Given the description of an element on the screen output the (x, y) to click on. 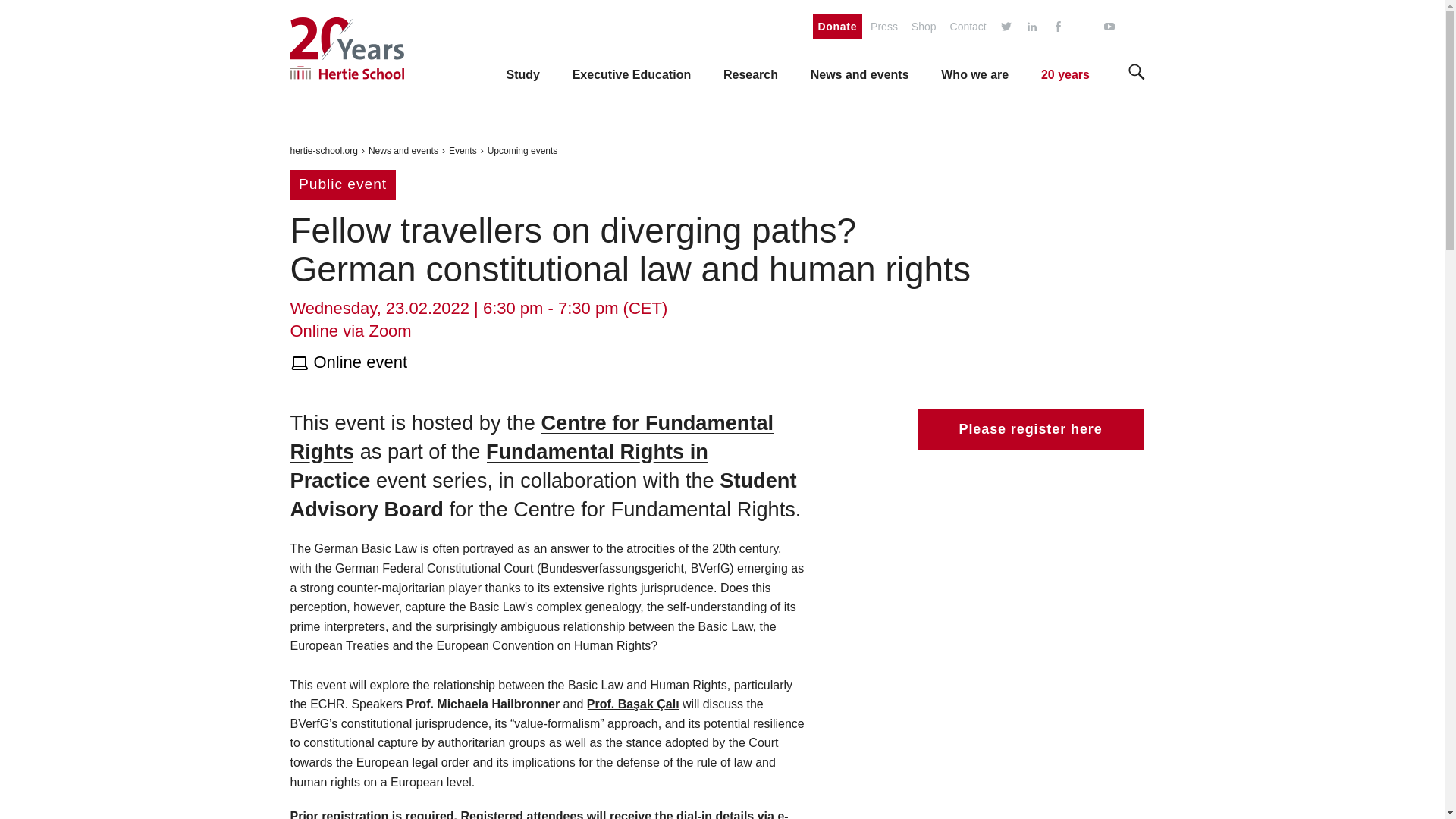
Press (883, 27)
Please register here (1029, 428)
Who we are (974, 74)
Donate (837, 26)
Please register here (1024, 440)
The Hertie School on TikTok (1133, 27)
The Hertie School on Instagram (1082, 27)
The Hertie School on Facebook (1057, 27)
Events (462, 150)
contact us (967, 27)
